Given the description of an element on the screen output the (x, y) to click on. 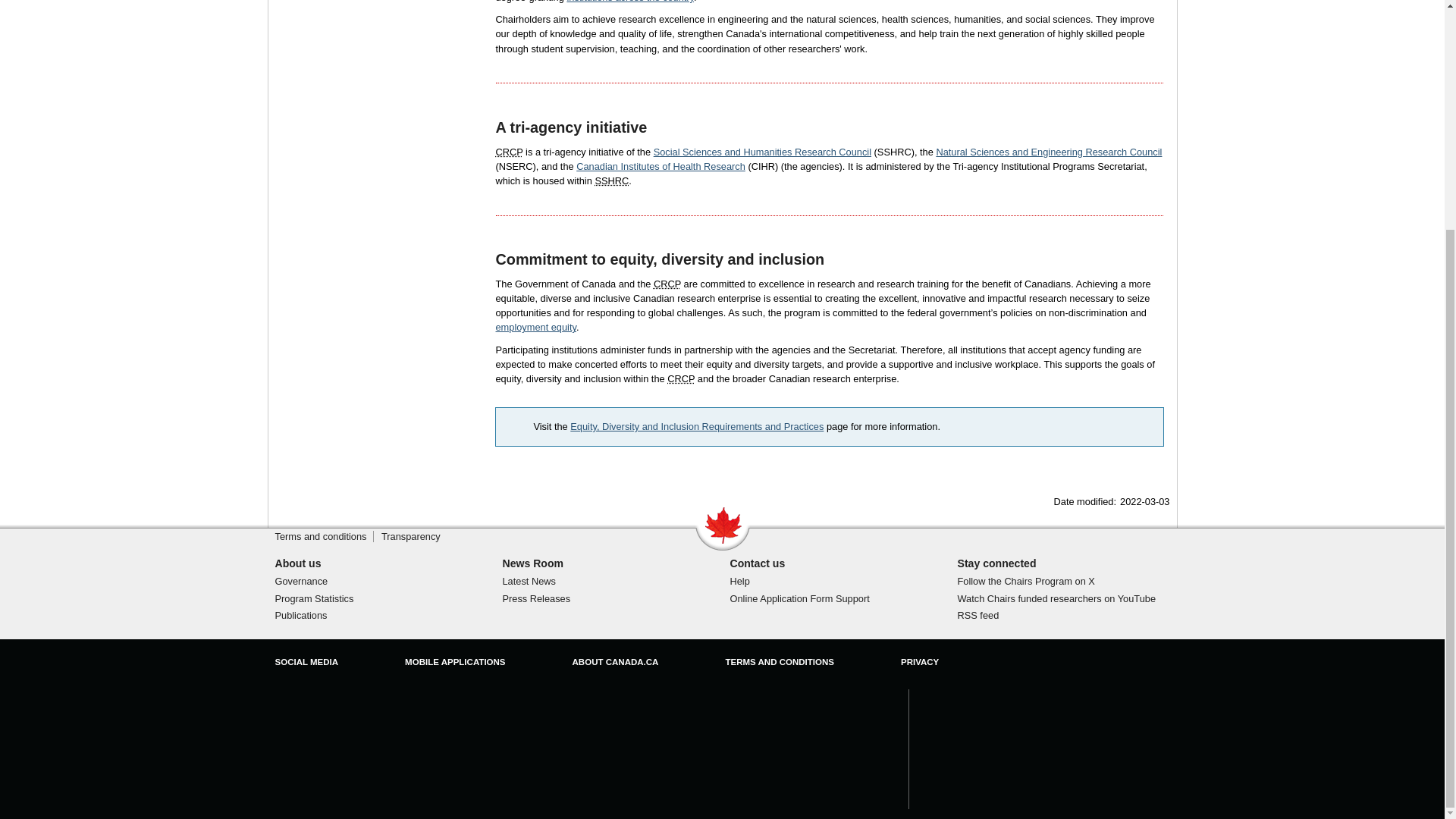
Canada Research Chairs Program (680, 378)
Canada Research Chairs Program (667, 283)
Social Sciences and Humanities Research Council (611, 180)
Canada Research Chairs Program (509, 152)
